Given the description of an element on the screen output the (x, y) to click on. 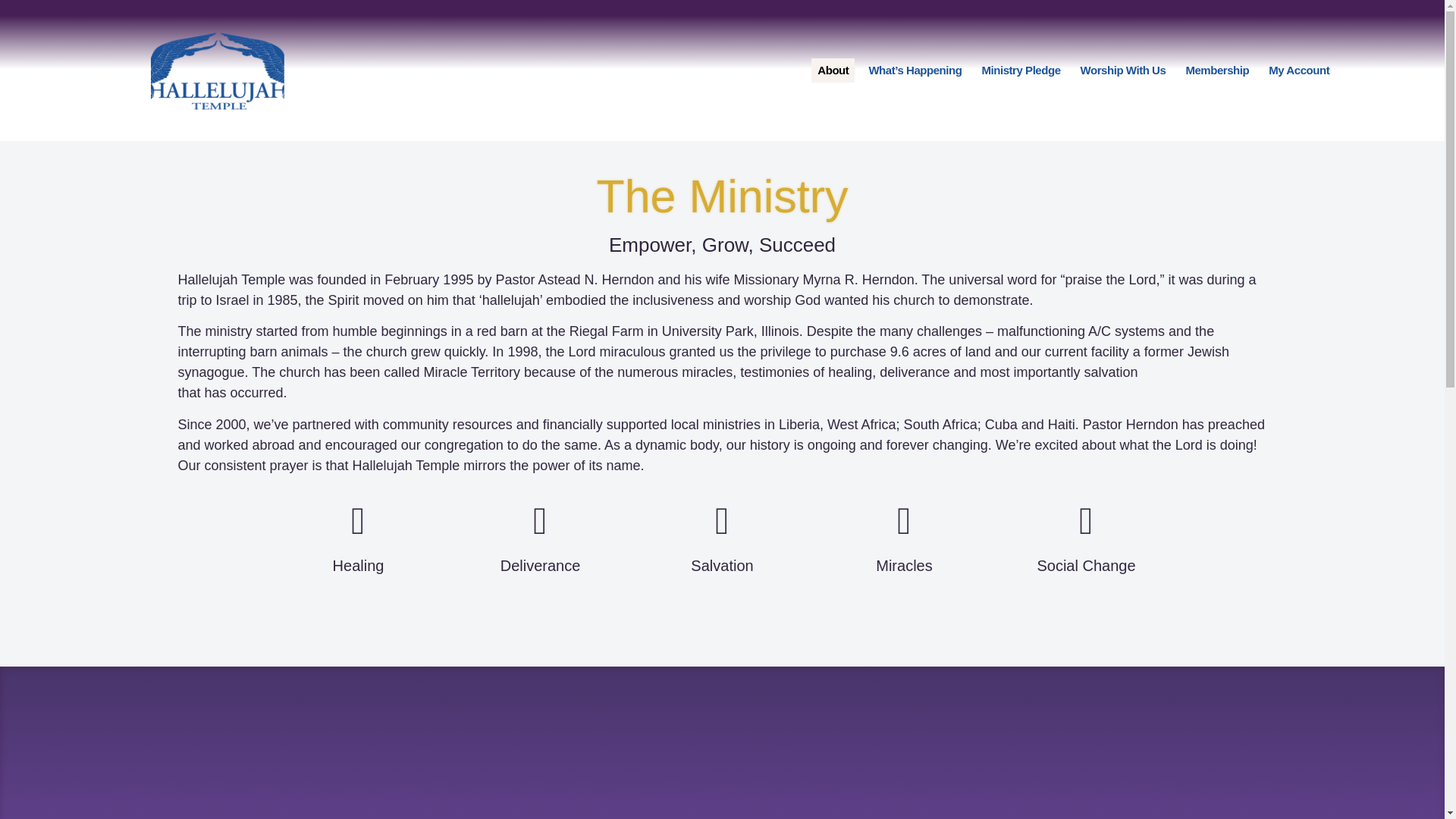
Worship With Us (1123, 70)
My Account (1298, 70)
Membership (1217, 70)
Ministry Pledge (1020, 70)
About (832, 70)
